Given the description of an element on the screen output the (x, y) to click on. 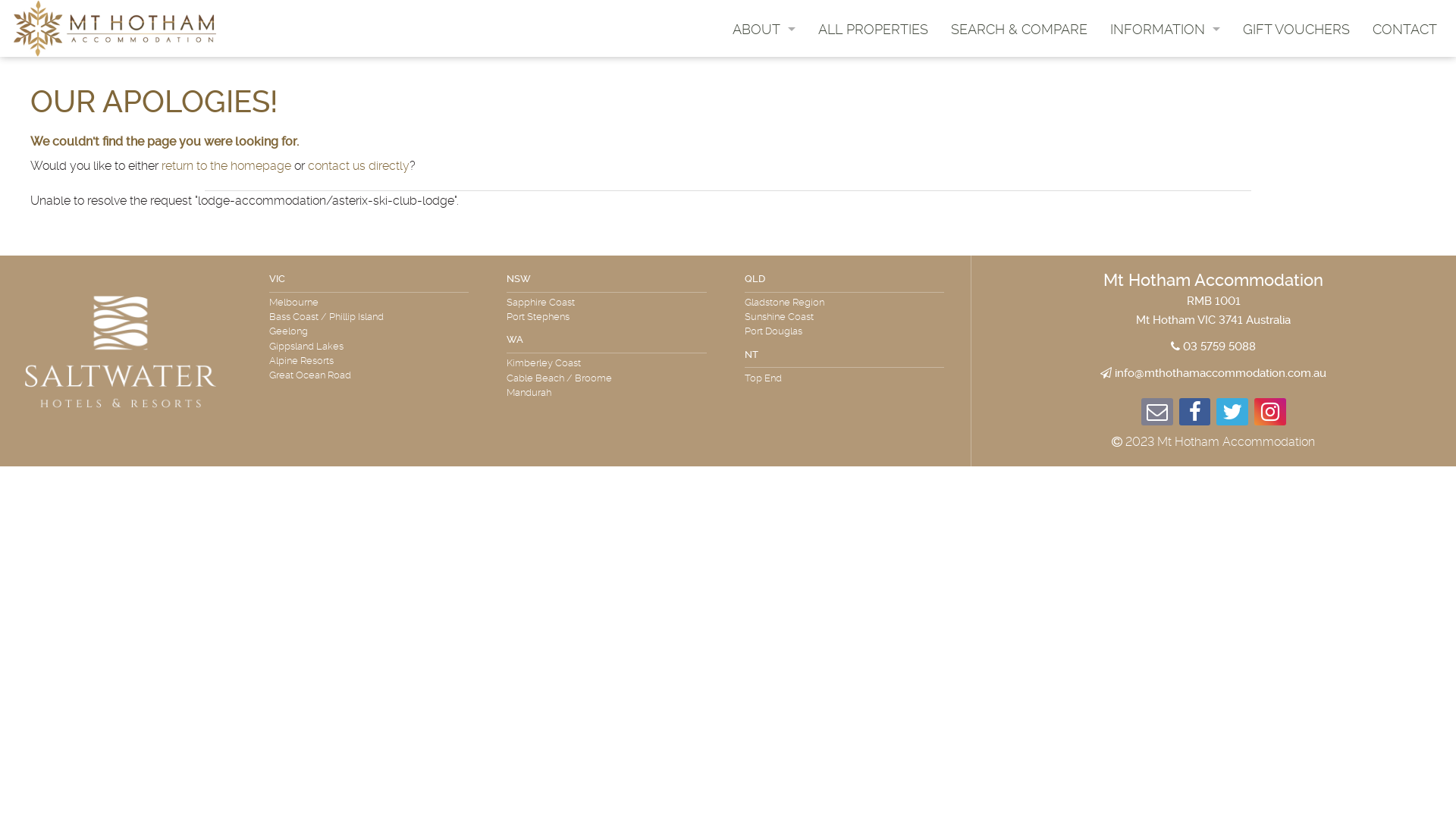
Kimberley Coast Element type: text (547, 362)
Bass Coast / Phillip Island Element type: text (330, 316)
Geelong Element type: text (292, 330)
Port Douglas Element type: text (776, 330)
Contact Us Element type: hover (1157, 415)
Instagram Element type: hover (1270, 415)
Sunshine Coast Element type: text (782, 316)
GALLERY Element type: text (1164, 160)
INFORMATION Element type: text (1164, 29)
ALL PROPERTIES Element type: text (872, 29)
Great Ocean Road Element type: text (313, 374)
FAQ Element type: text (1164, 54)
CONTACT Element type: text (1404, 29)
Mandurah Element type: text (532, 392)
Melbourne Element type: text (297, 301)
PROPERTY MANAGEMENT Element type: text (763, 72)
SUMMER Element type: text (1164, 72)
SNOW CAMS Element type: text (1164, 179)
Gippsland Lakes Element type: text (310, 345)
ABOUT Element type: text (763, 29)
SEARCH & COMPARE Element type: text (1018, 29)
Gladstone Region Element type: text (787, 301)
SKI HIRE Element type: text (1164, 107)
WINTER Element type: text (1164, 90)
03 5759 5088 Element type: text (1219, 346)
Alpine Resorts Element type: text (305, 360)
Top End Element type: text (766, 377)
MT HOTHAM VILLAGE DIRECTORY Element type: text (1164, 196)
OWNER PORTAL Element type: text (763, 107)
Sapphire Coast Element type: text (544, 301)
GUEST INFORMATION Element type: text (763, 54)
GIFT VOUCHERS Element type: text (1296, 29)
Cable Beach / Broome Element type: text (562, 377)
contact us directly Element type: text (358, 165)
Instagram Element type: hover (1232, 415)
EMPLOYMENT Element type: text (763, 90)
Facebook Element type: hover (1195, 415)
Port Stephens Element type: text (541, 316)
LOCATION Element type: text (1164, 125)
WEATHER Element type: text (1164, 143)
info@mthothamaccommodation.com.au Element type: text (1220, 372)
return to the homepage Element type: text (226, 165)
